Given the description of an element on the screen output the (x, y) to click on. 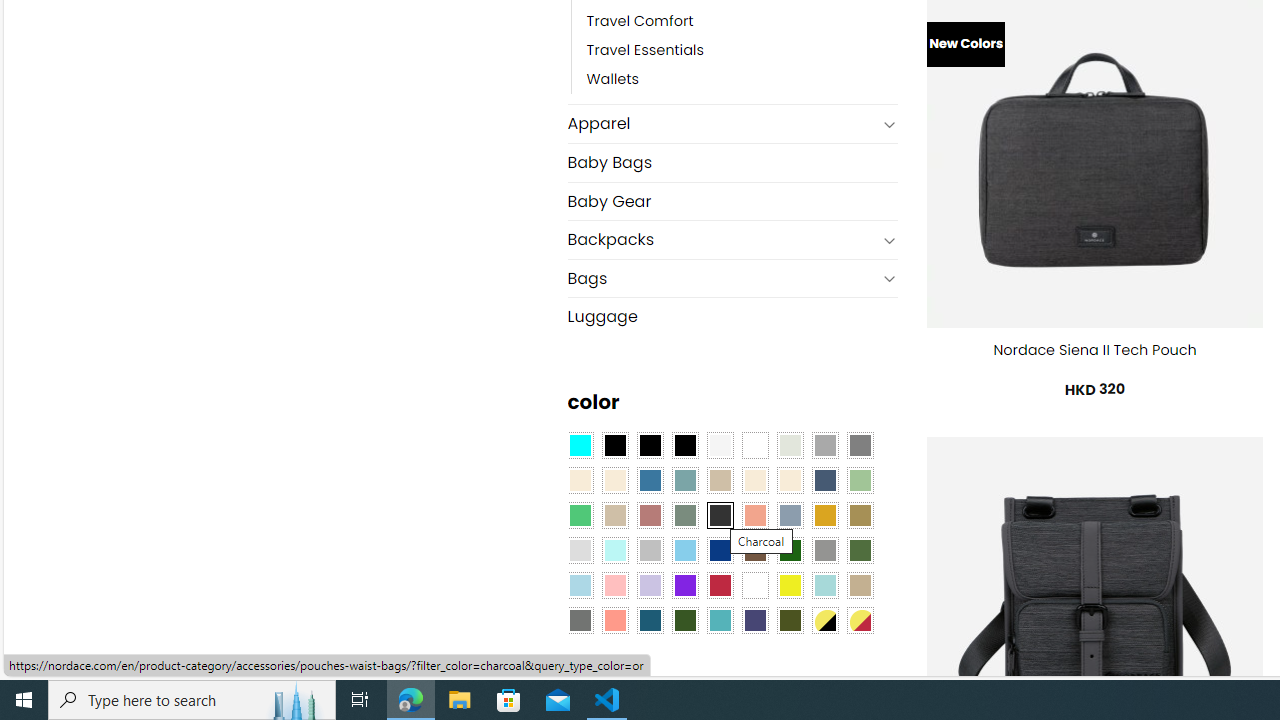
Travel Comfort (742, 21)
Green (859, 550)
Beige-Brown (614, 480)
Baby Gear (732, 201)
Blue (650, 480)
Forest (684, 619)
Capri Blue (650, 619)
Luggage (732, 316)
Baby Gear (732, 200)
Dull Nickle (579, 619)
Pearly White (719, 444)
Brownie (719, 480)
Wallets (742, 79)
White (755, 584)
